Given the description of an element on the screen output the (x, y) to click on. 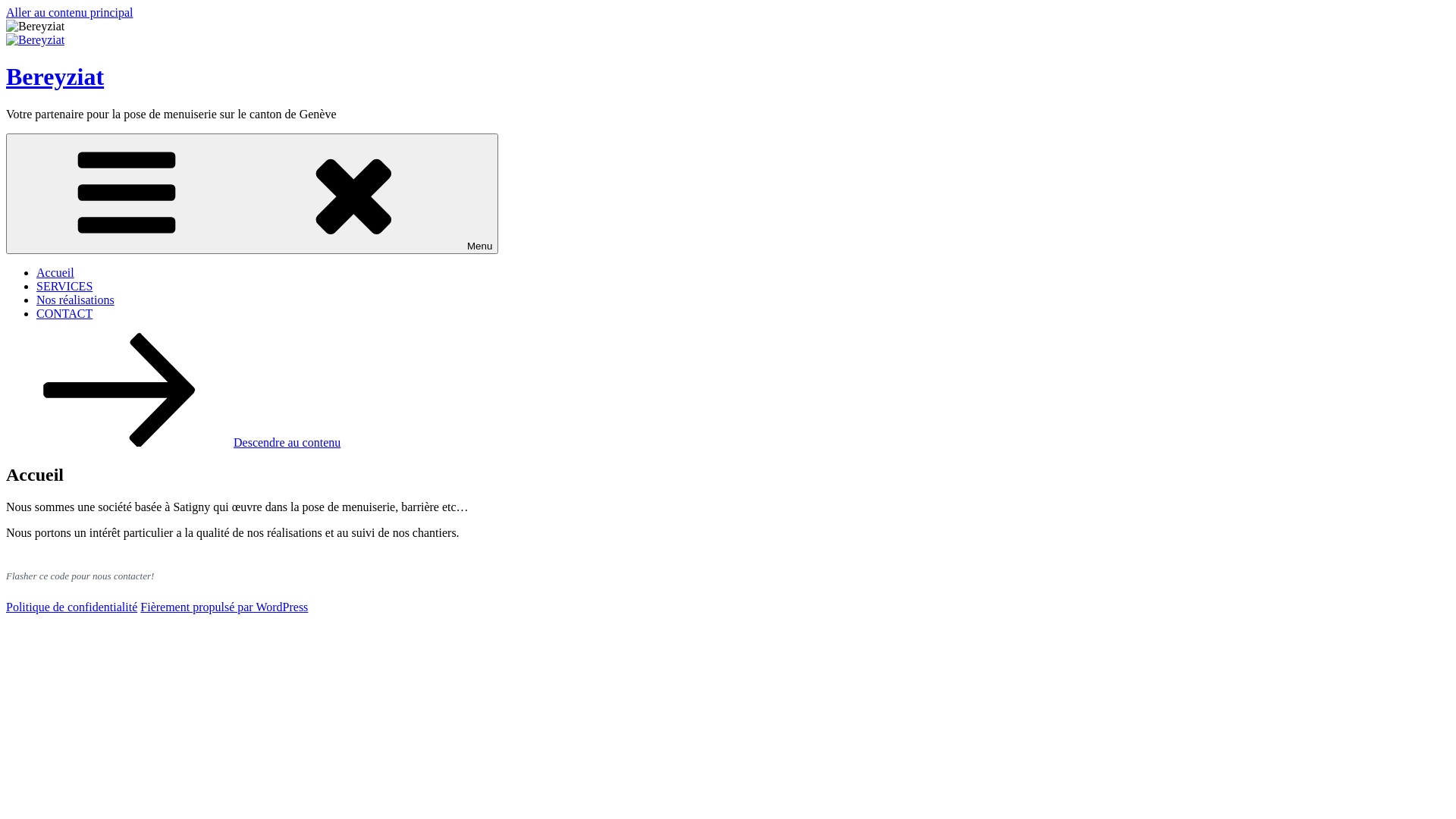
SERVICES Element type: text (64, 285)
Bereyziat Element type: text (54, 76)
CONTACT Element type: text (64, 313)
Descendre au contenu Element type: text (173, 442)
Menu Element type: text (252, 193)
Aller au contenu principal Element type: text (69, 12)
Accueil Element type: text (55, 272)
